Given the description of an element on the screen output the (x, y) to click on. 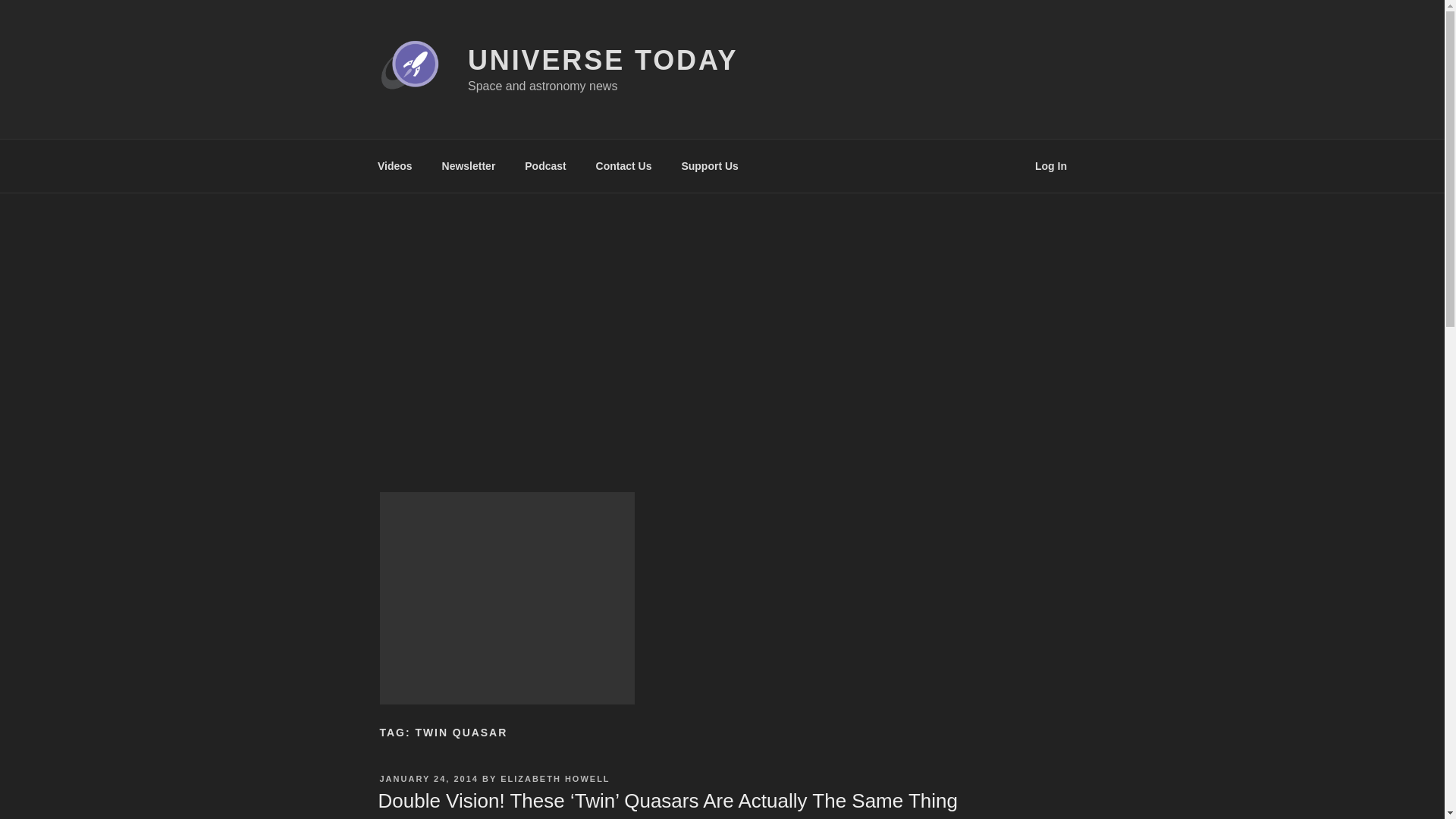
Advertisement (505, 598)
Support Us (709, 165)
JANUARY 24, 2014 (427, 777)
ELIZABETH HOWELL (555, 777)
Contact Us (623, 165)
Podcast (545, 165)
Log In (1051, 165)
UNIVERSE TODAY (602, 60)
Newsletter (468, 165)
